Given the description of an element on the screen output the (x, y) to click on. 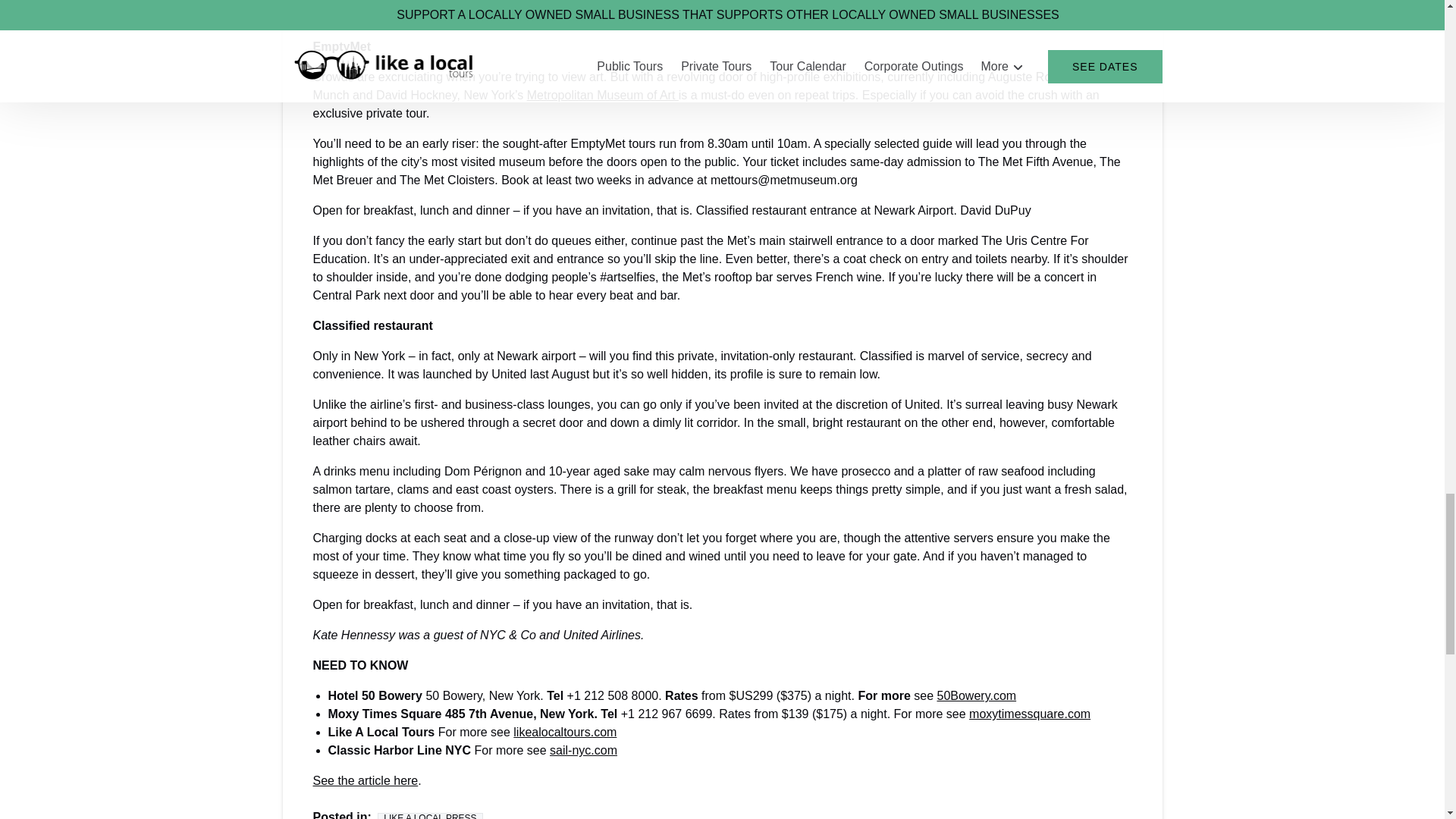
likealocaltours.com (564, 731)
sail-nyc.com (583, 749)
moxytimessquare.com (1029, 713)
LIKE A LOCAL PRESS (429, 816)
50Bowery.com (976, 695)
See the article here (365, 780)
Metropolitan Museum of Art (602, 94)
